Given the description of an element on the screen output the (x, y) to click on. 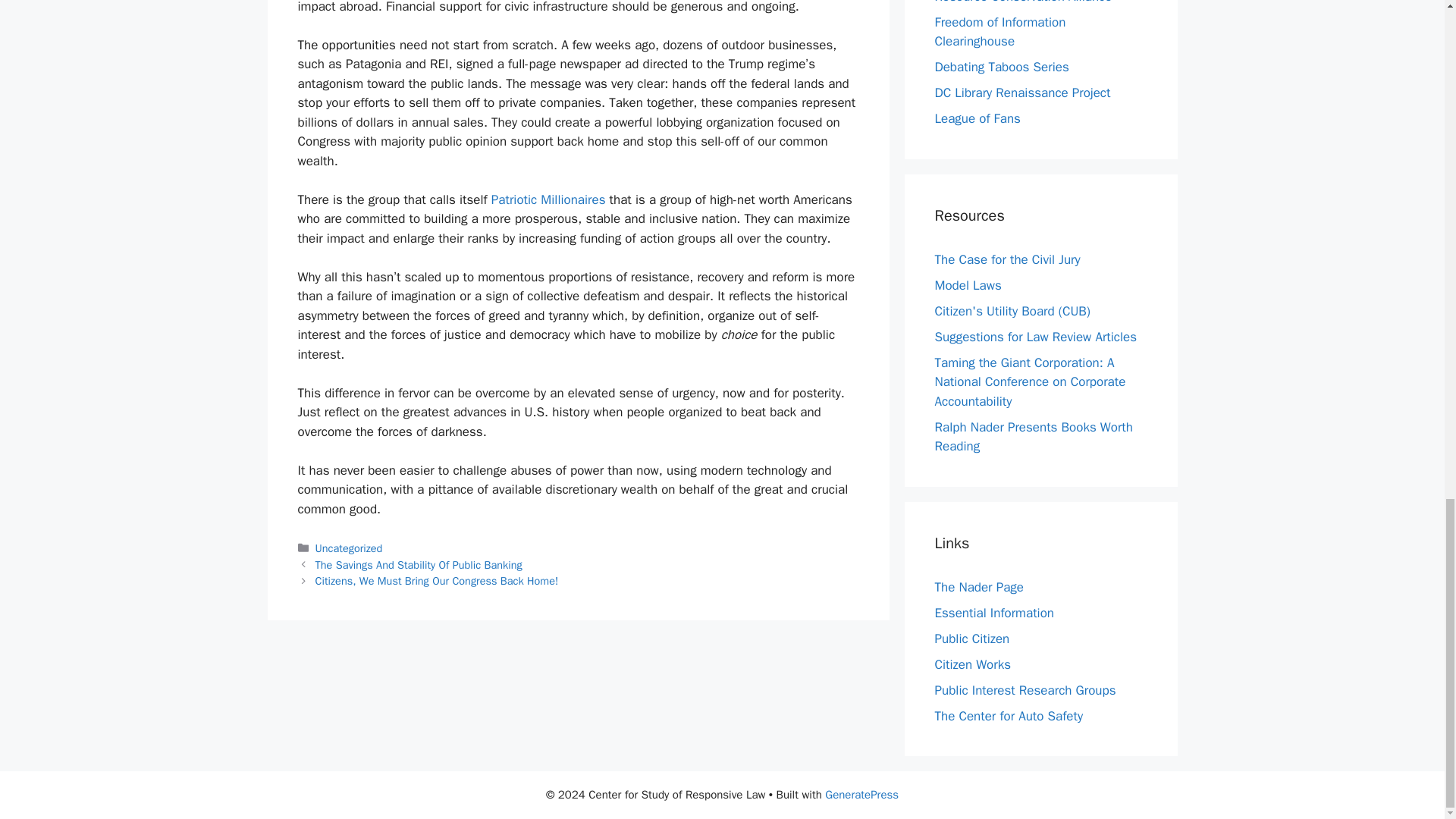
Citizens, We Must Bring Our Congress Back Home! (437, 581)
Freedom of Information Clearinghouse (999, 31)
The Case for the Civil Jury (1007, 258)
Model Laws (967, 284)
Uncategorized (348, 548)
Essential Information (994, 611)
Patriotic Millionaires (548, 199)
Resource Conservation Alliance (1023, 2)
The Savings And Stability Of Public Banking (418, 564)
The Nader Page (978, 586)
Debating Taboos Series (1001, 66)
Ralph Nader Presents Books Worth Reading (1033, 437)
League of Fans (977, 118)
Suggestions for Law Review Articles (1035, 335)
